Given the description of an element on the screen output the (x, y) to click on. 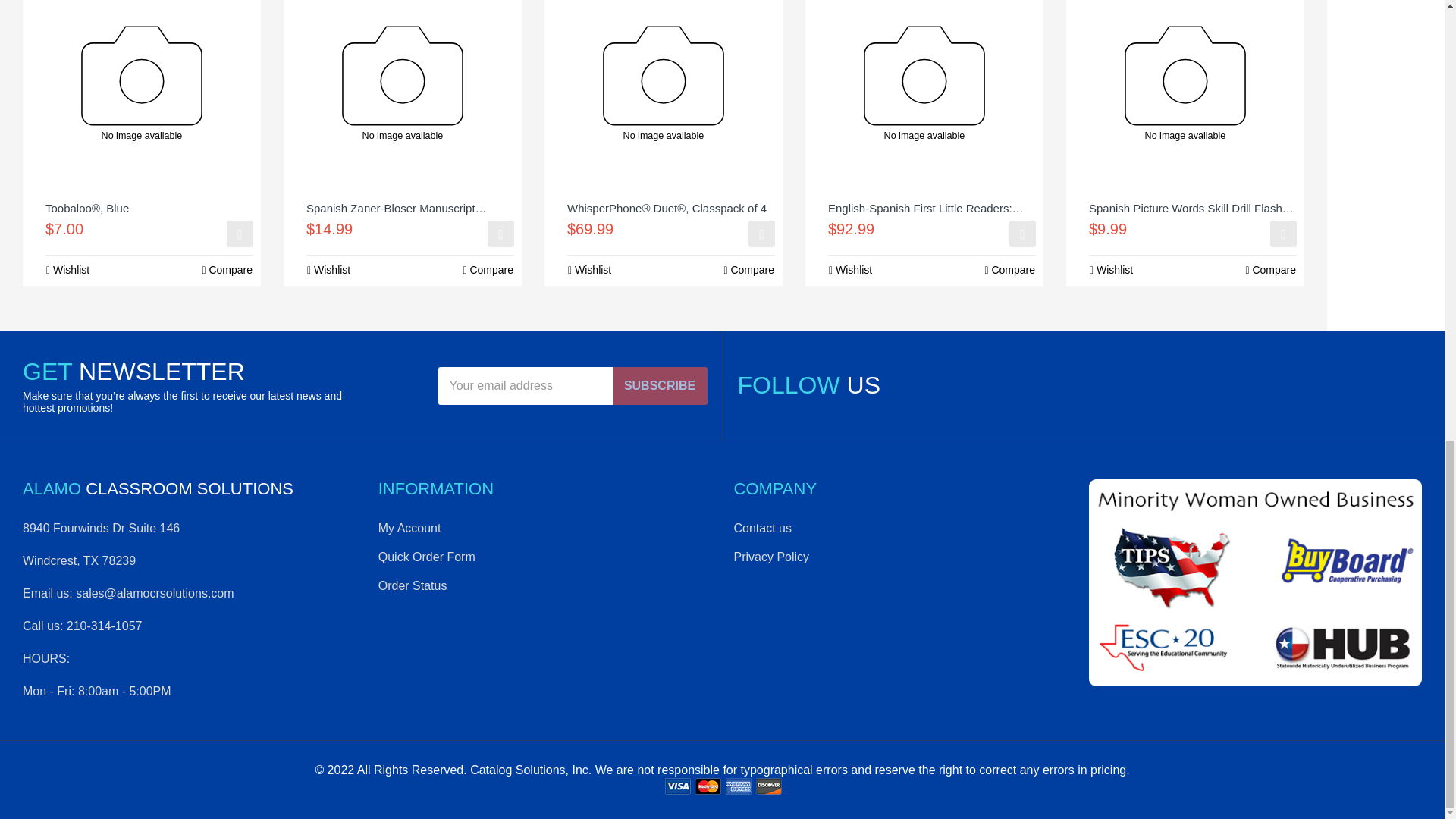
Add to Compare (226, 270)
Add to Wishlist (327, 270)
Add to Compare (487, 270)
Add to Wishlist (67, 270)
Add to Wishlist (589, 270)
